Given the description of an element on the screen output the (x, y) to click on. 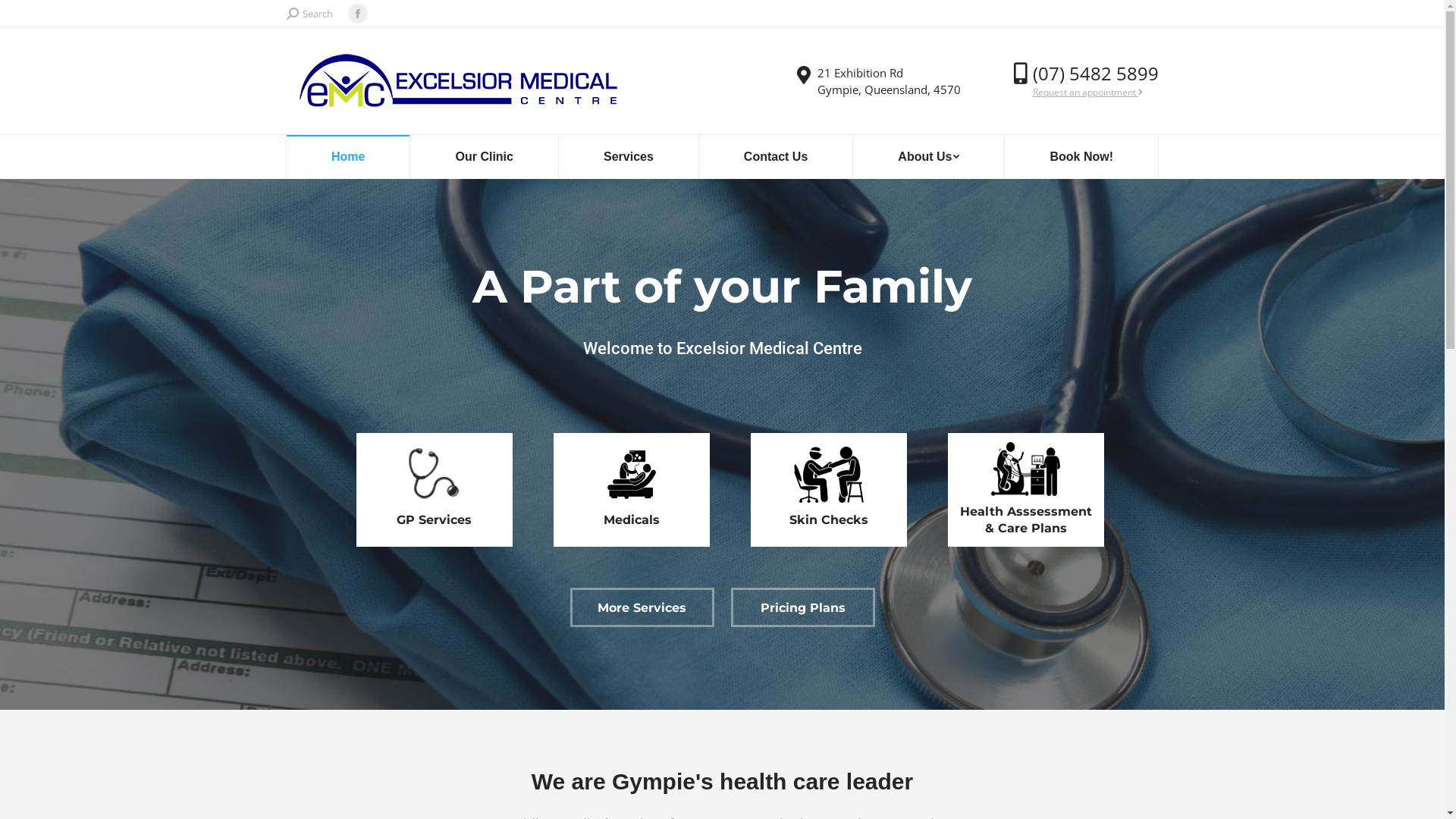
Pricing Plans Element type: text (803, 607)
Home Element type: text (348, 156)
Facebook page opens in new window Element type: text (357, 13)
Request an appointment Element type: text (1087, 91)
Search Element type: text (309, 13)
Contact Us Element type: text (775, 156)
Our Clinic Element type: text (484, 156)
Services Element type: text (628, 156)
Book Now! Element type: text (1081, 156)
Go! Element type: text (24, 15)
More Services Element type: text (642, 607)
About Us Element type: text (928, 156)
